Given the description of an element on the screen output the (x, y) to click on. 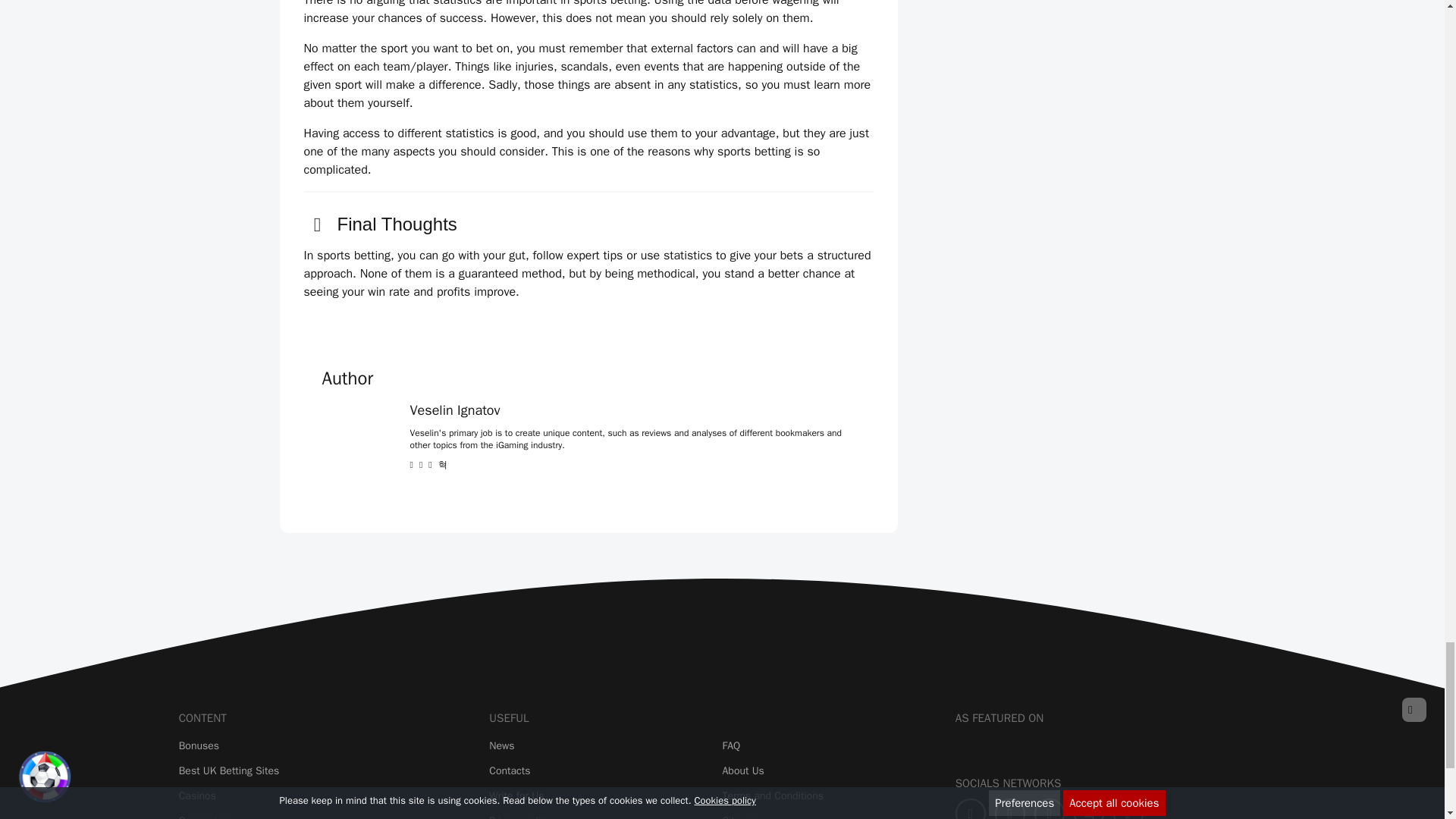
Instagram (1088, 808)
Pinterest (1048, 808)
Twitter (1009, 808)
Linkedin (1127, 808)
instagram (442, 464)
Facebook (970, 808)
